Given the description of an element on the screen output the (x, y) to click on. 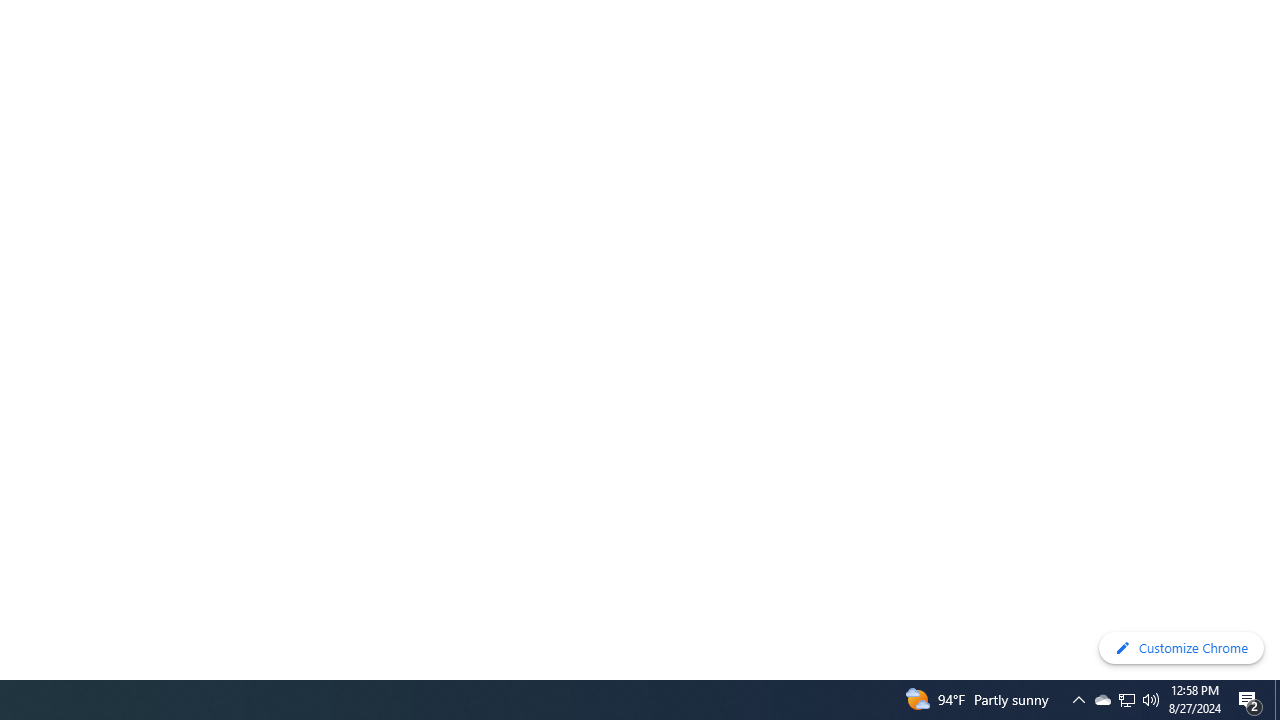
Customize Chrome (1181, 647)
